Given the description of an element on the screen output the (x, y) to click on. 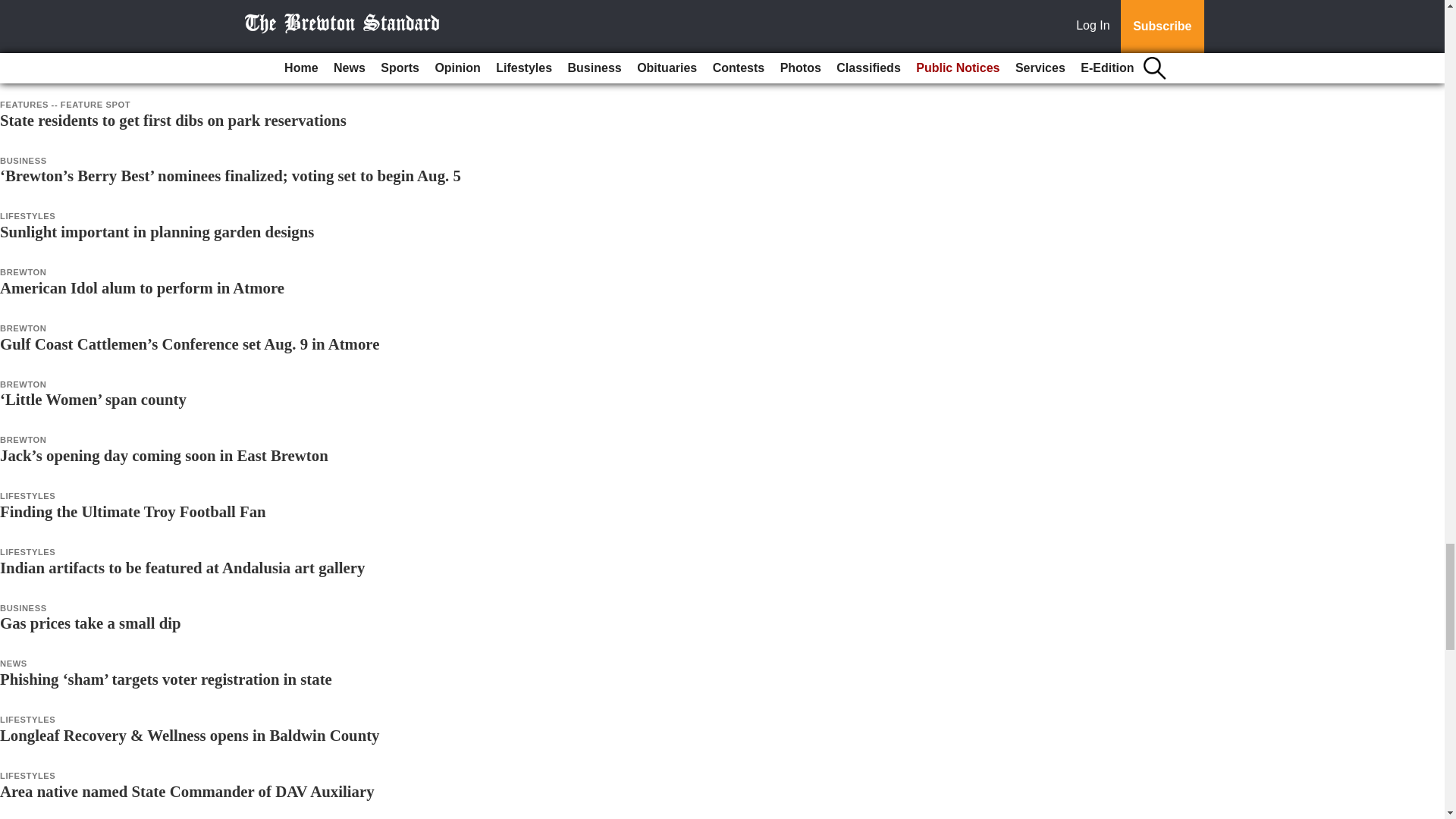
Area native named State Commander of DAV Auxiliary (187, 791)
American Idol alum to perform in Atmore (141, 287)
County BOE finishes business prior to first day of school (190, 63)
State residents to get first dibs on park reservations (173, 119)
County BOE finishes business prior to first day of school (190, 63)
Indian artifacts to be featured at Andalusia art gallery (182, 567)
Sunlight important in planning garden designs (157, 231)
Finding the Ultimate Troy Football Fan (133, 511)
Gas prices take a small dip (90, 622)
